Given the description of an element on the screen output the (x, y) to click on. 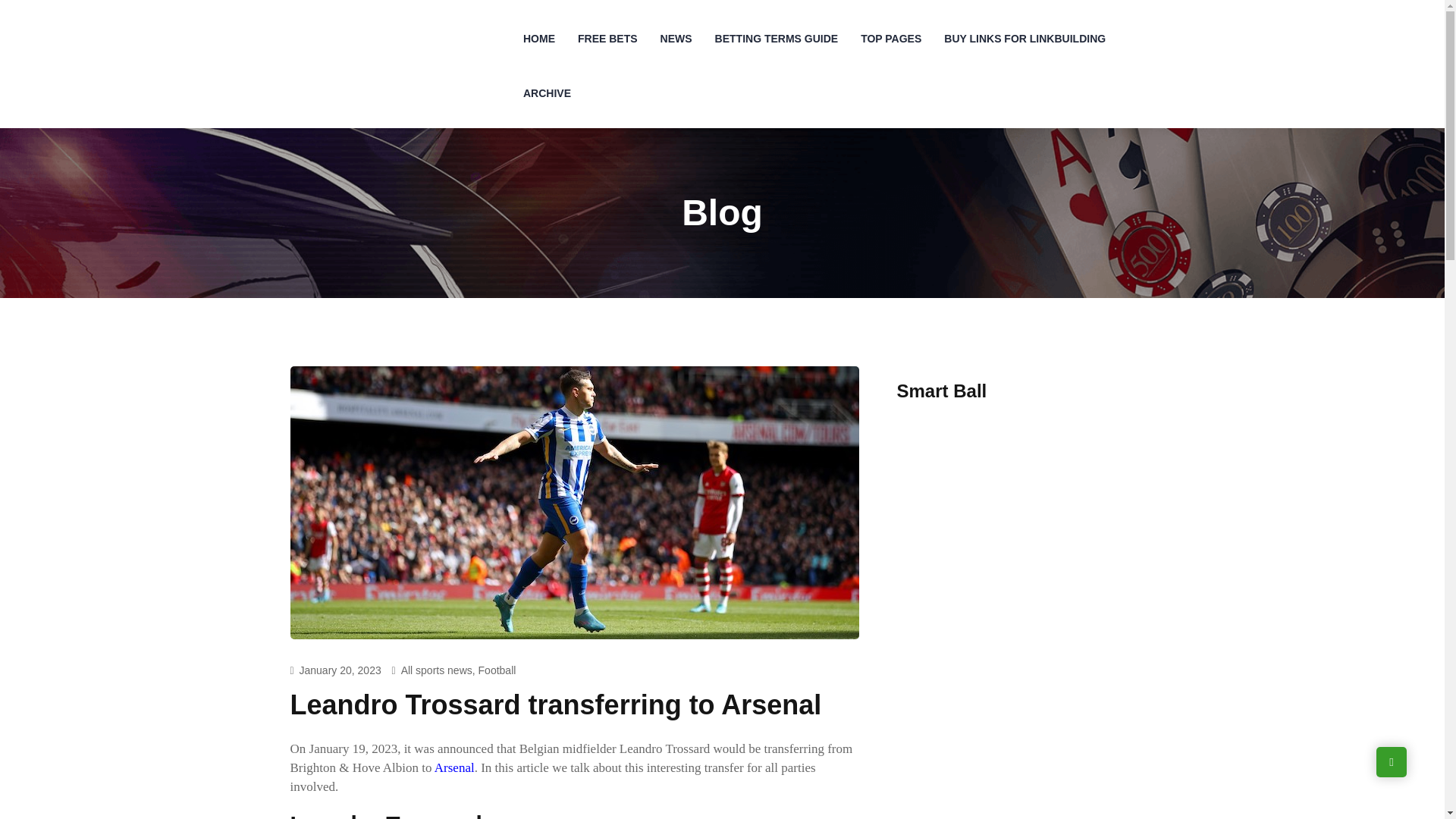
FREE BETS (607, 38)
All sports news (436, 670)
Football (497, 670)
TOP PAGES (890, 38)
Arsenal (453, 767)
HOME (539, 38)
NEWS (676, 38)
BETTING TERMS GUIDE (776, 38)
ARCHIVE (547, 93)
BUY LINKS FOR LINKBUILDING (1024, 38)
